Given the description of an element on the screen output the (x, y) to click on. 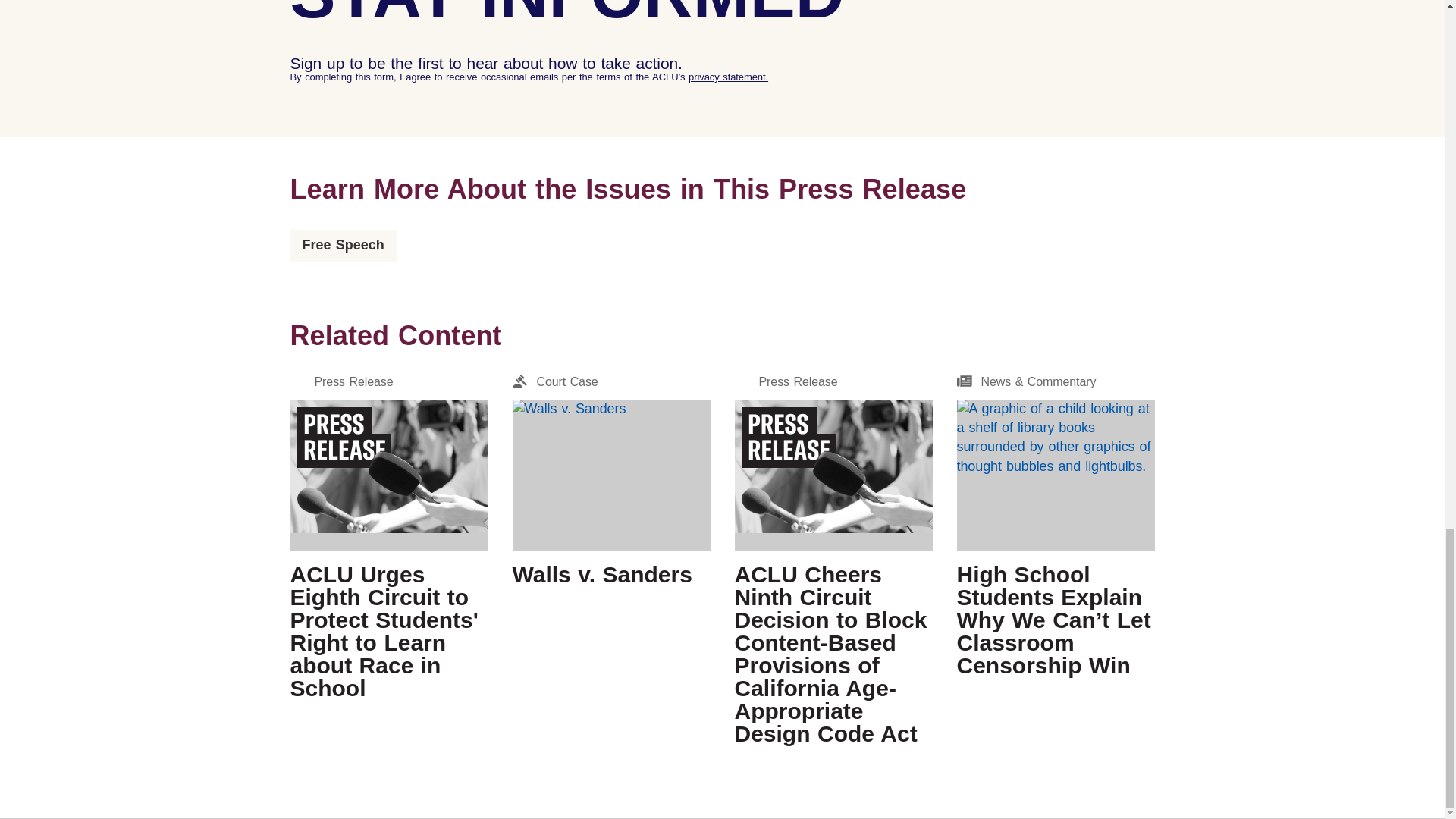
Free Speech (611, 479)
privacy statement. (342, 244)
